Given the description of an element on the screen output the (x, y) to click on. 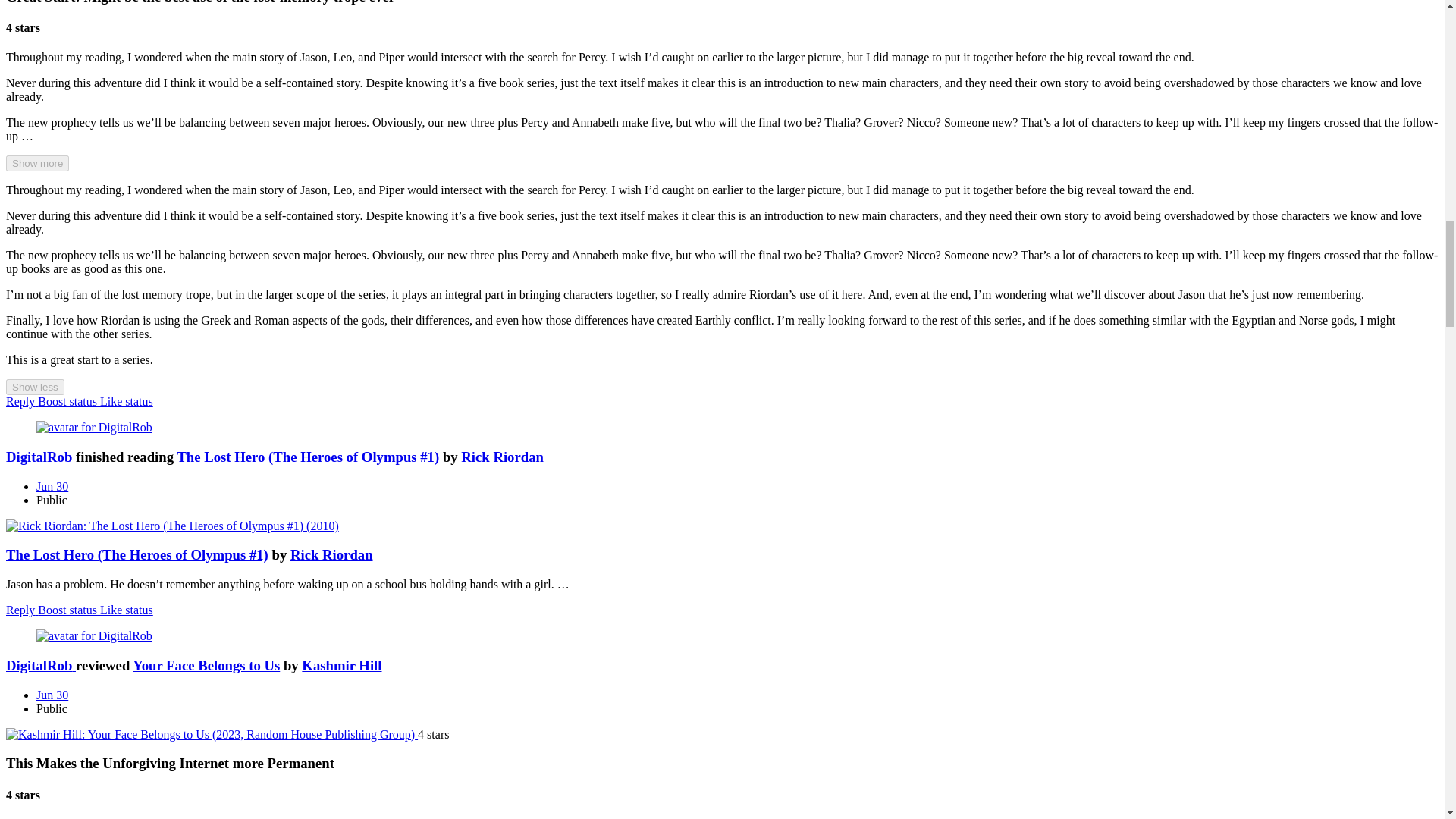
Public (51, 499)
Boost status (68, 609)
Boost status (68, 400)
Reply (21, 609)
Like status (126, 400)
Reply (21, 400)
